Given the description of an element on the screen output the (x, y) to click on. 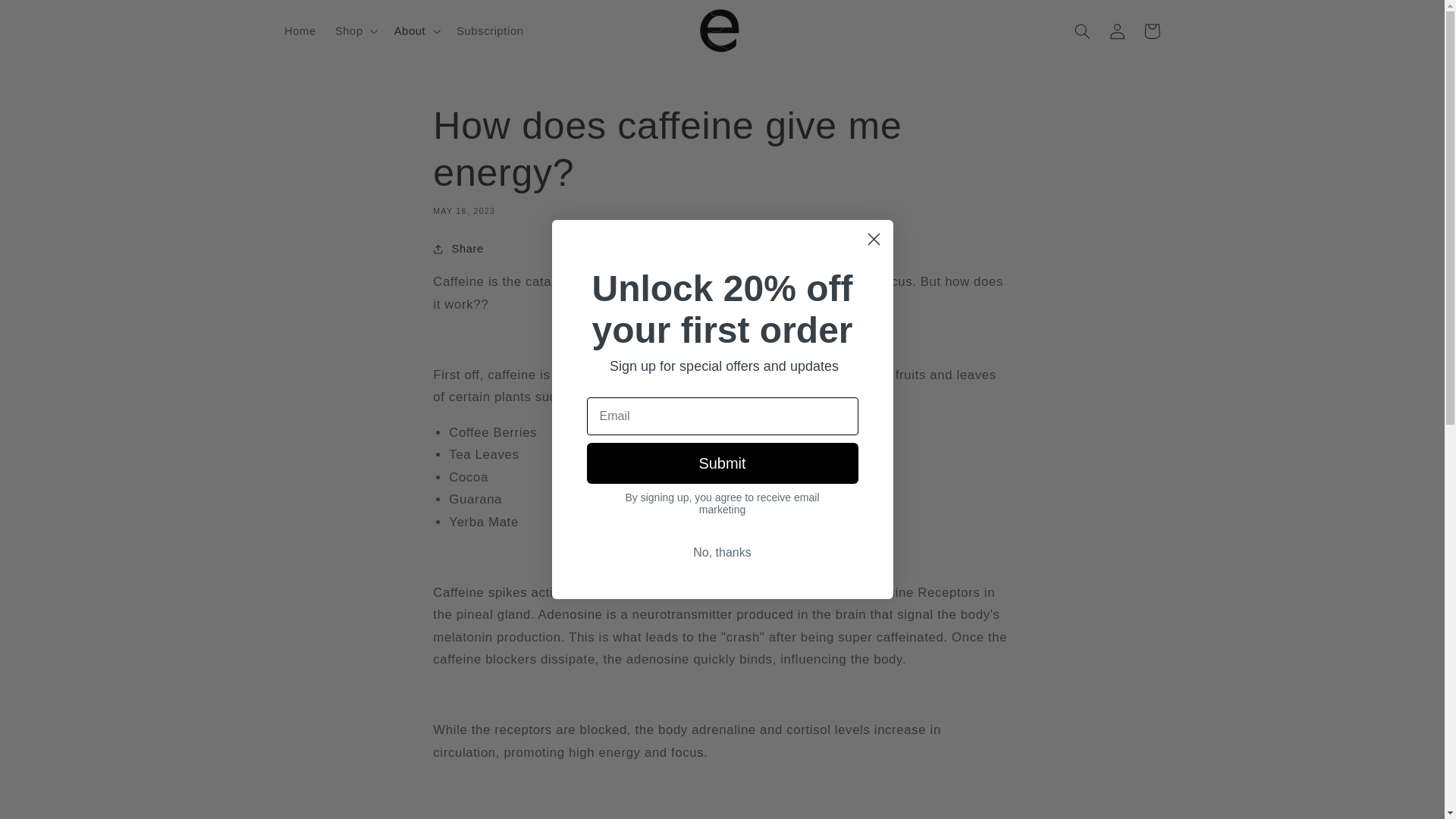
Close dialog 1 (873, 239)
Cart (1151, 30)
Skip to content (48, 18)
Subscription (490, 30)
Log in (1116, 30)
Home (299, 30)
